Given the description of an element on the screen output the (x, y) to click on. 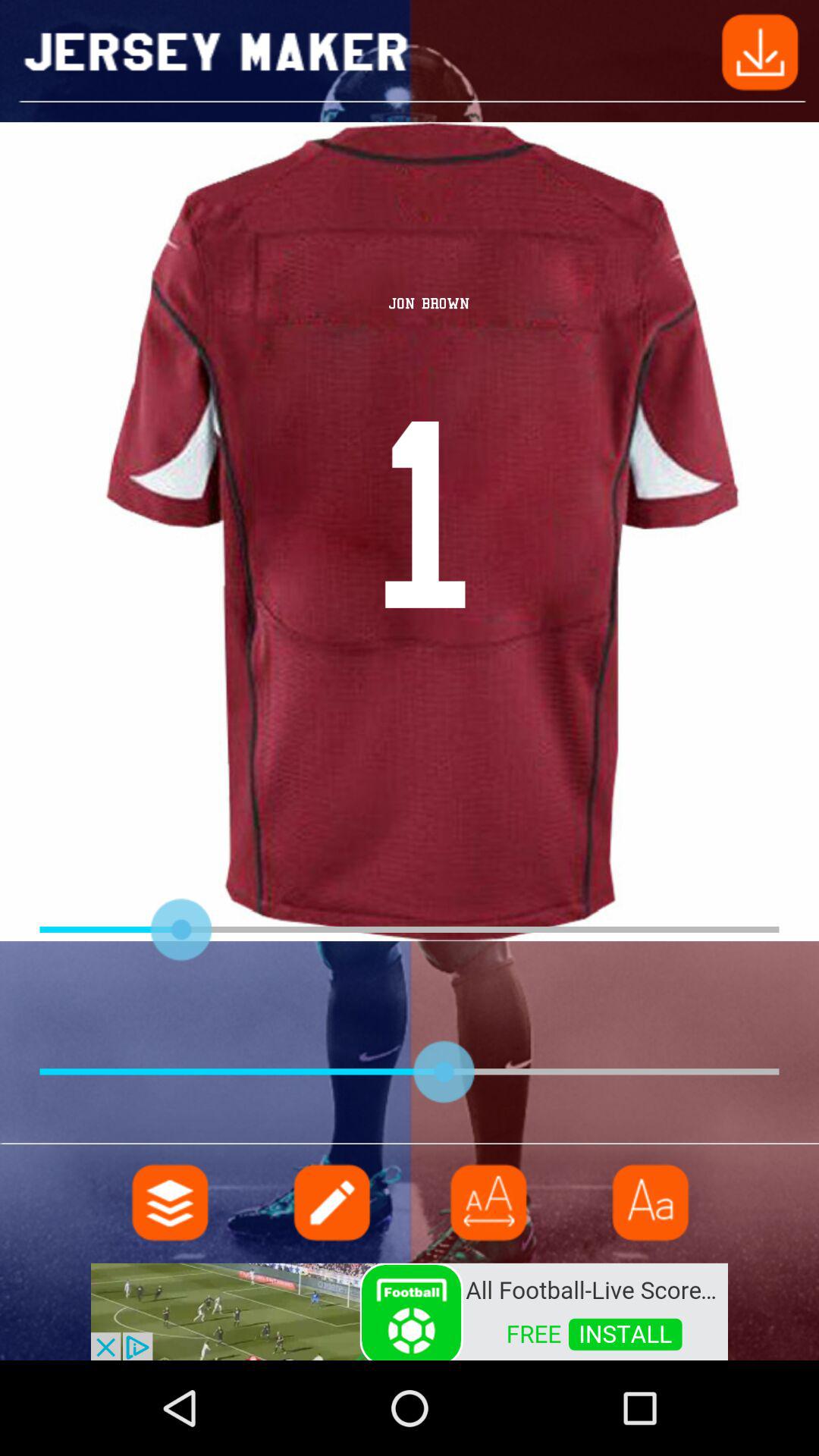
settings button (170, 1202)
